Given the description of an element on the screen output the (x, y) to click on. 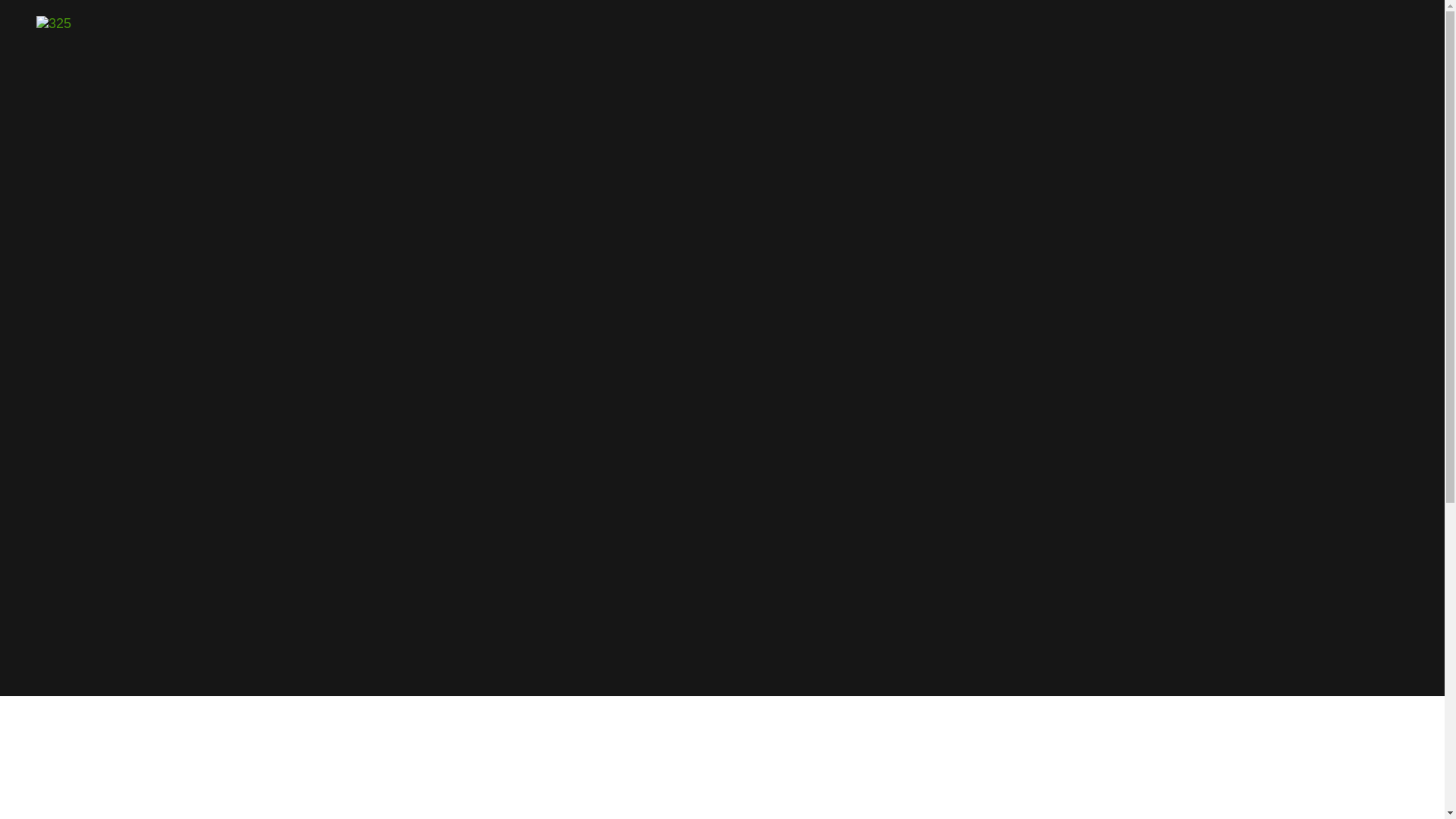
325 Element type: hover (53, 21)
